Given the description of an element on the screen output the (x, y) to click on. 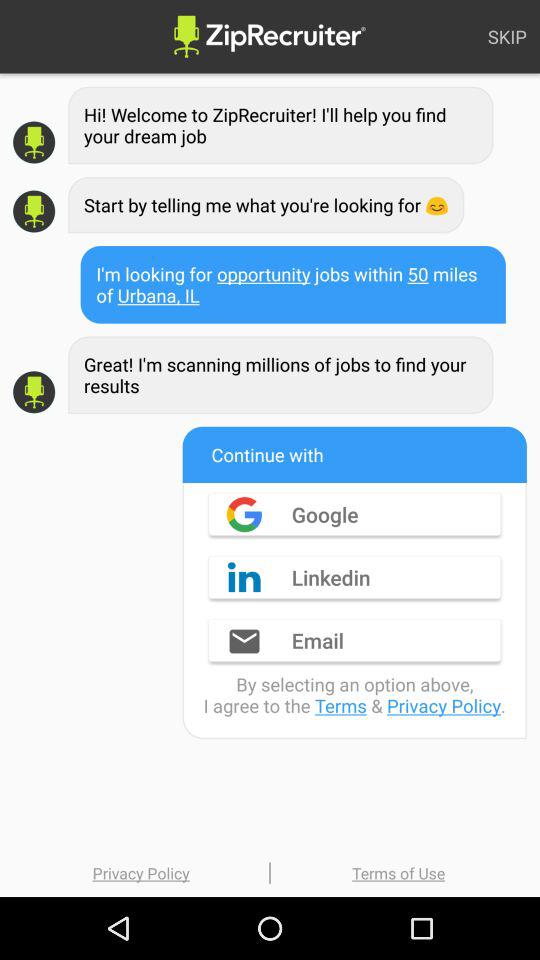
launch the icon at the top right corner (507, 36)
